Given the description of an element on the screen output the (x, y) to click on. 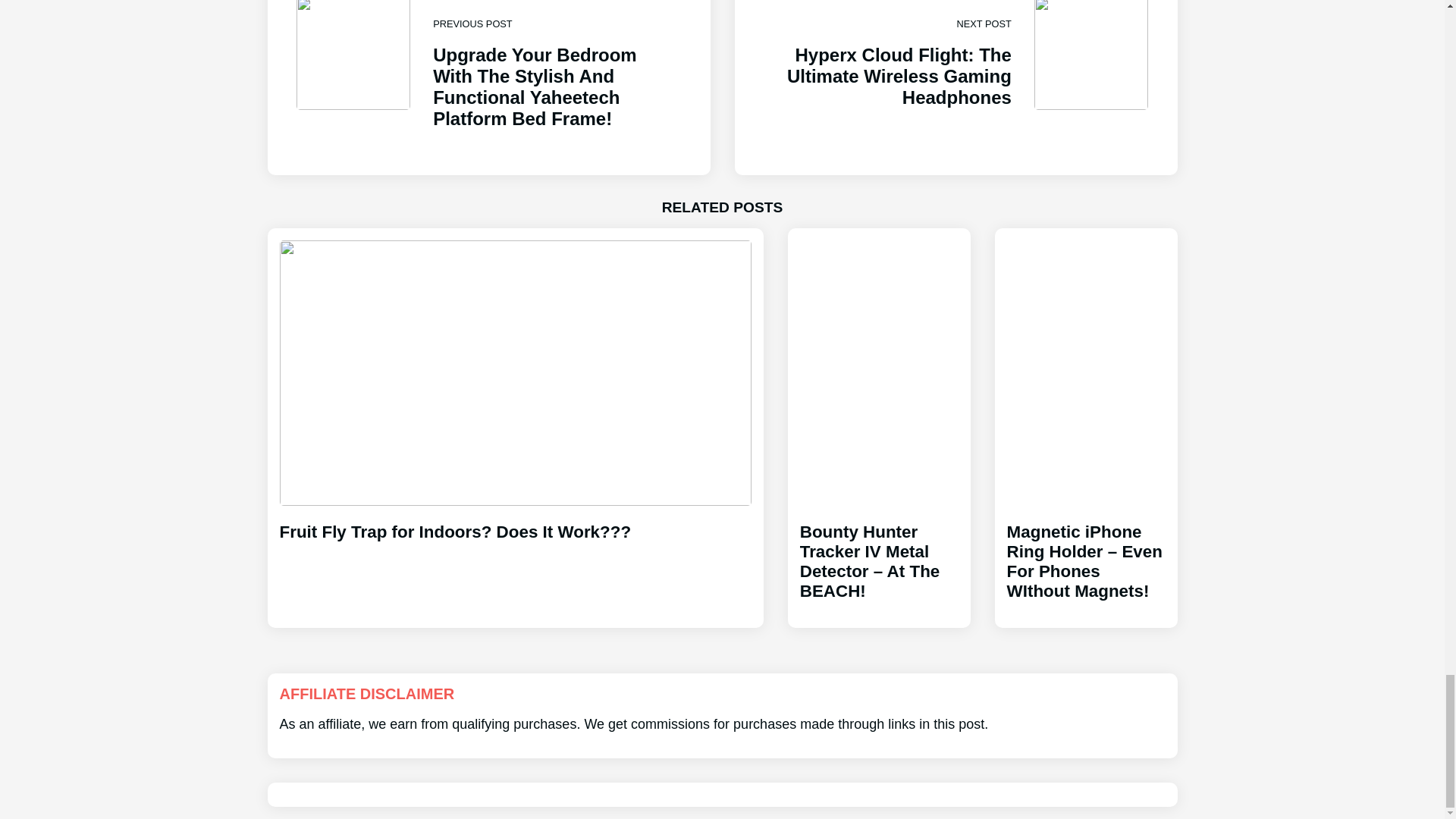
Fruit Fly Trap for Indoors? Does It Work??? (515, 518)
Fruit Fly Trap for Indoors? Does It Work??? (515, 518)
